Given the description of an element on the screen output the (x, y) to click on. 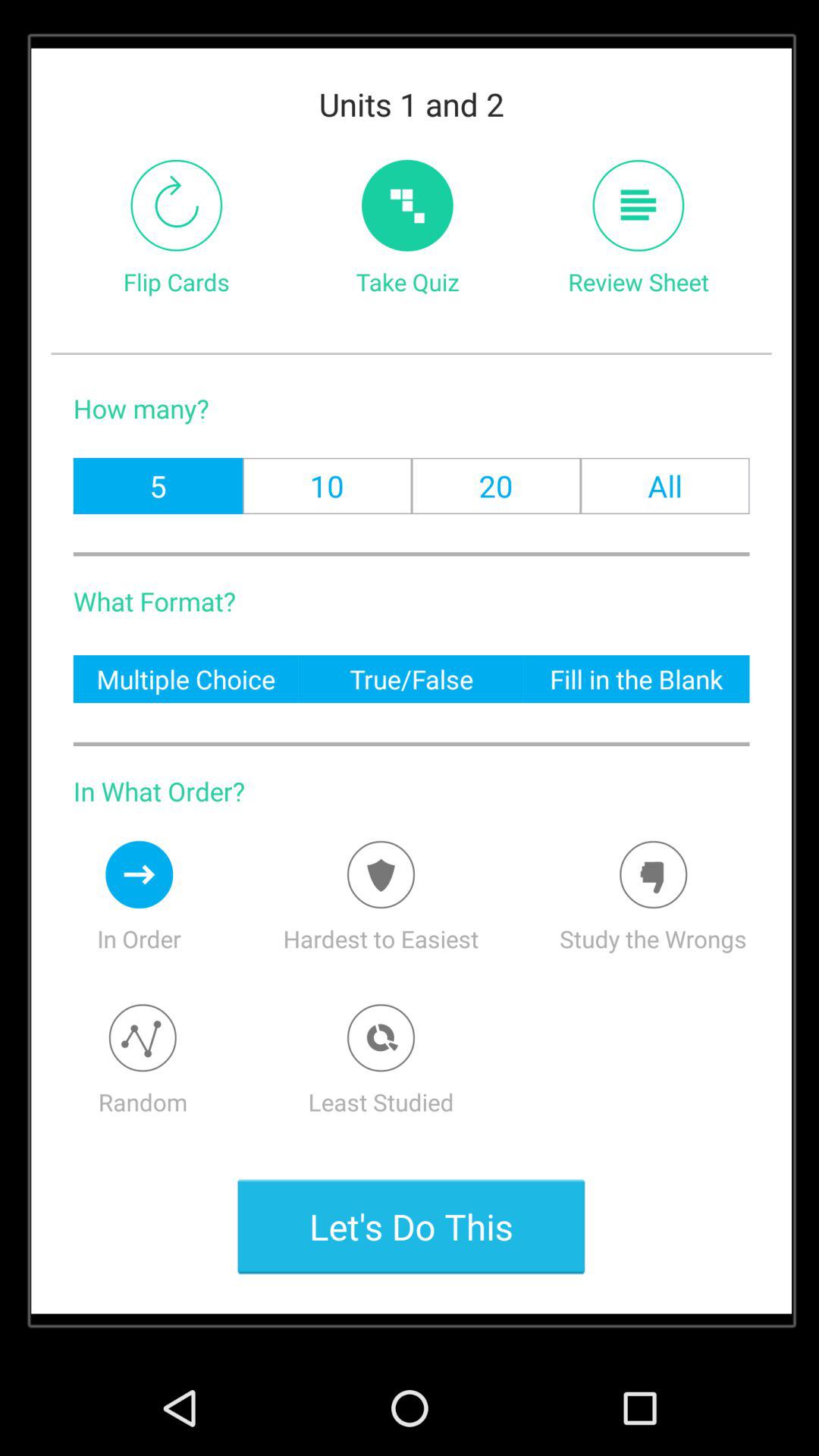
order by least studied (380, 1037)
